Given the description of an element on the screen output the (x, y) to click on. 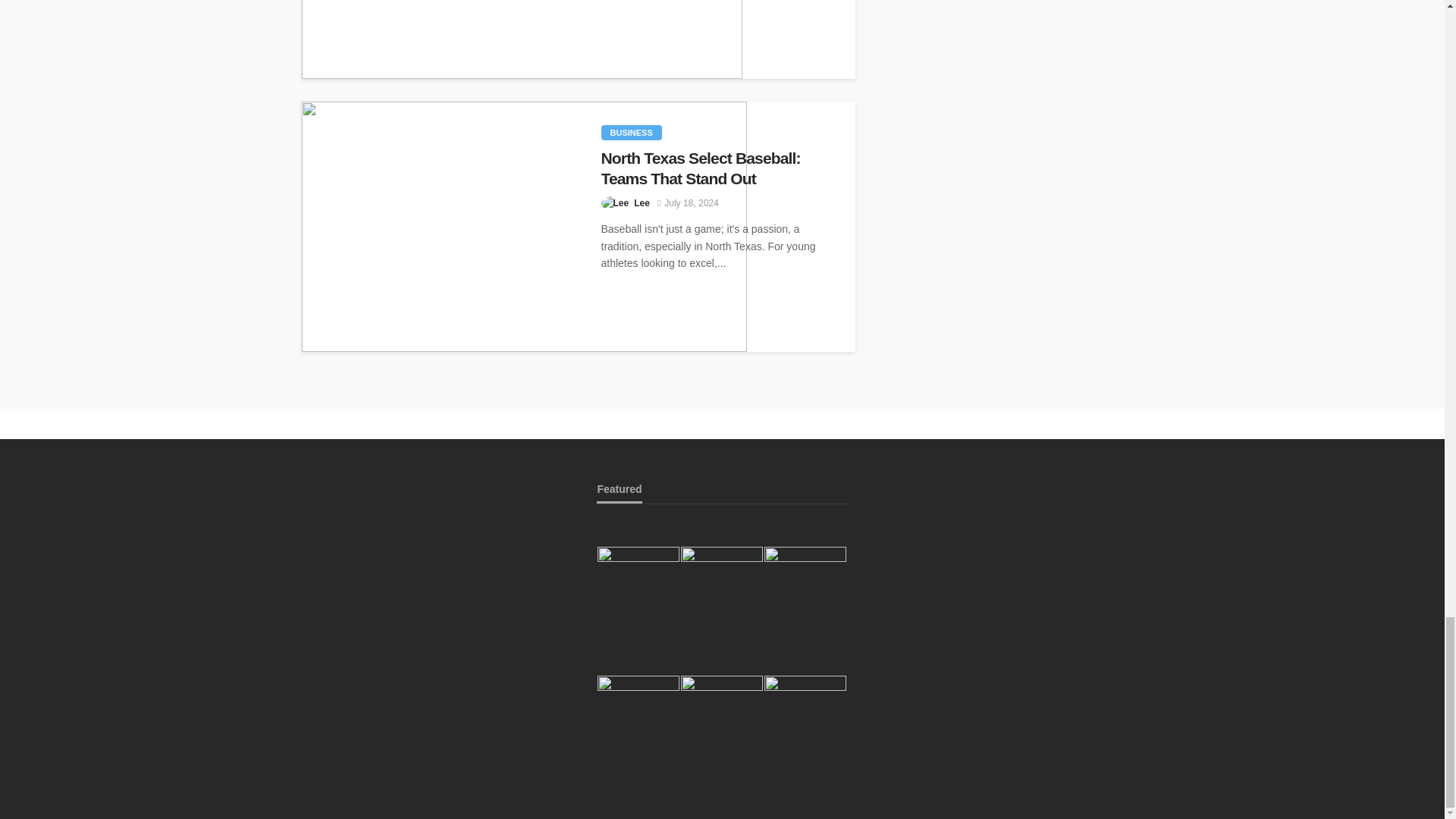
North Texas Select Baseball: Teams That Stand Out (523, 226)
Debunking Myths About Replica Watches (521, 39)
